Given the description of an element on the screen output the (x, y) to click on. 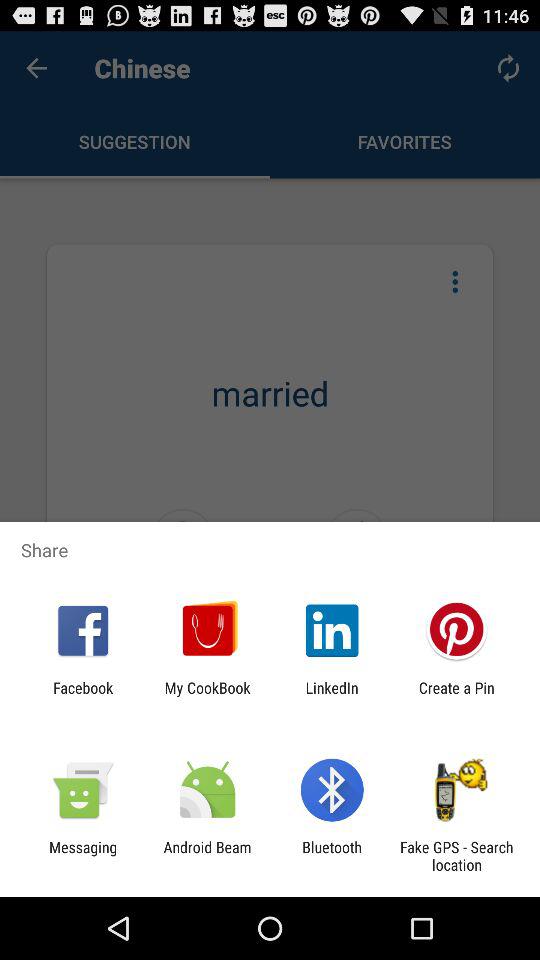
scroll to create a pin (456, 696)
